Given the description of an element on the screen output the (x, y) to click on. 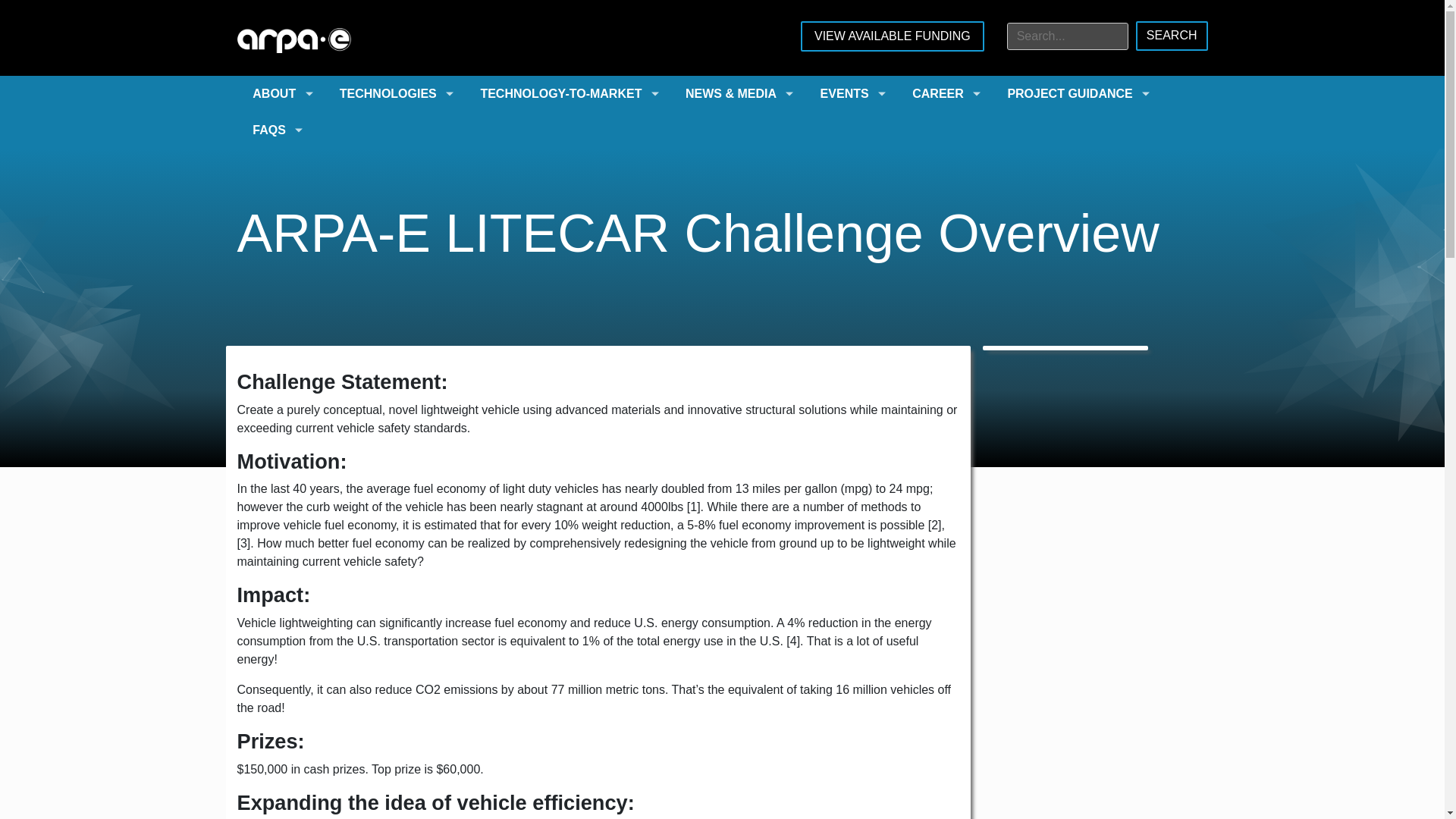
Search (1171, 35)
Search (1171, 35)
VIEW AVAILABLE FUNDING (892, 36)
